Given the description of an element on the screen output the (x, y) to click on. 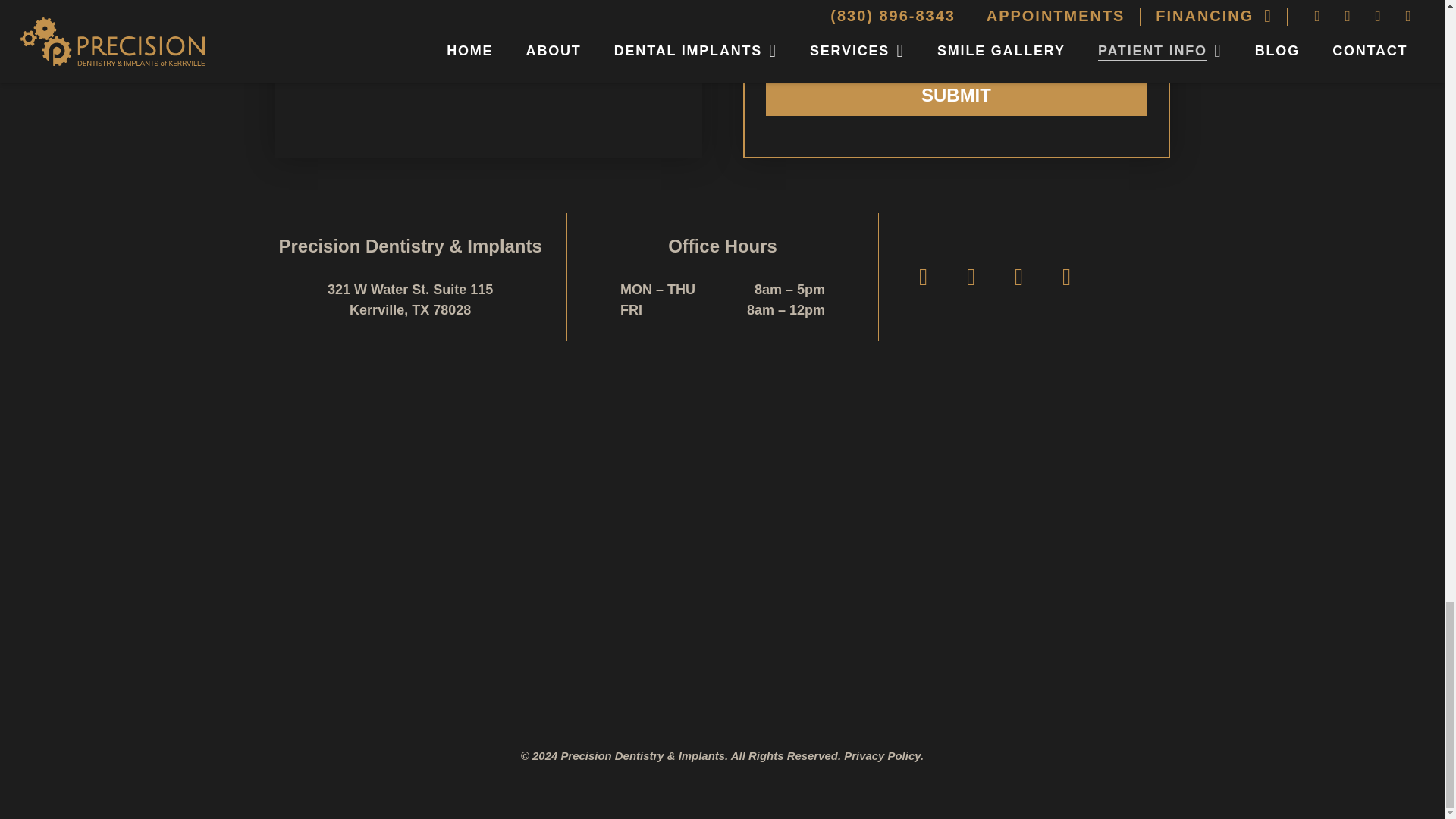
Get Directions (488, 79)
Facebook (970, 277)
Google (923, 277)
YouTube (1066, 277)
Twitter (1018, 277)
Submit (956, 96)
